Given the description of an element on the screen output the (x, y) to click on. 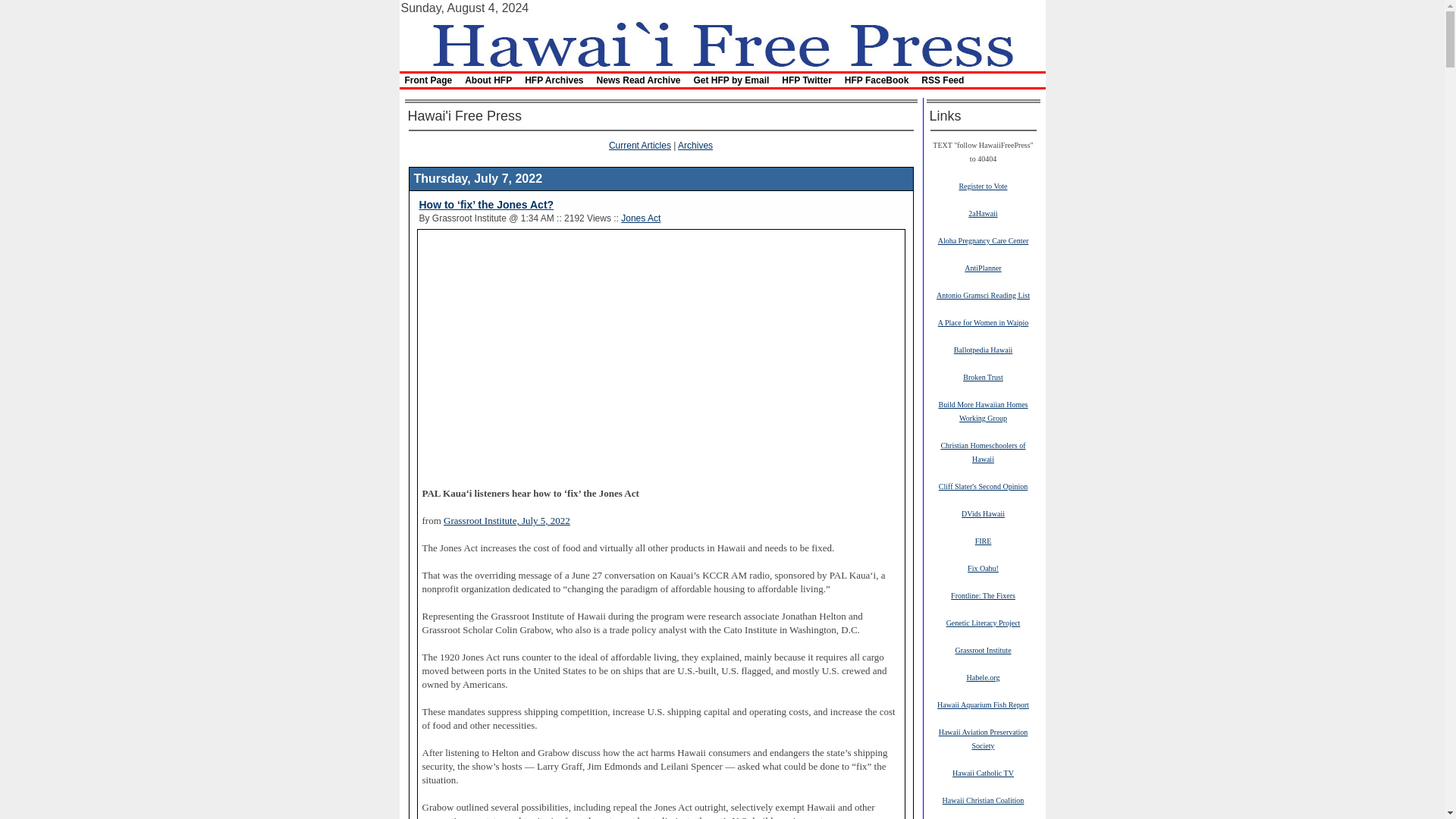
Antonio Gramsci Reading List (982, 294)
Archives (695, 145)
Hawaii Christian Coalition (983, 799)
Register to Vote (982, 185)
Build More Hawaiian Homes Working Group (982, 410)
Broken Trust (982, 376)
Jones Act (641, 217)
FIRE (983, 540)
Cliff Slater's Second Opinion (983, 485)
Grassroot Institute, July 5, 2022 (507, 520)
Frontline: The Fixers (982, 594)
Fix Oahu! (983, 567)
Current Articles (639, 145)
Genetic Literacy Project (983, 622)
DVids Hawaii (982, 512)
